Given the description of an element on the screen output the (x, y) to click on. 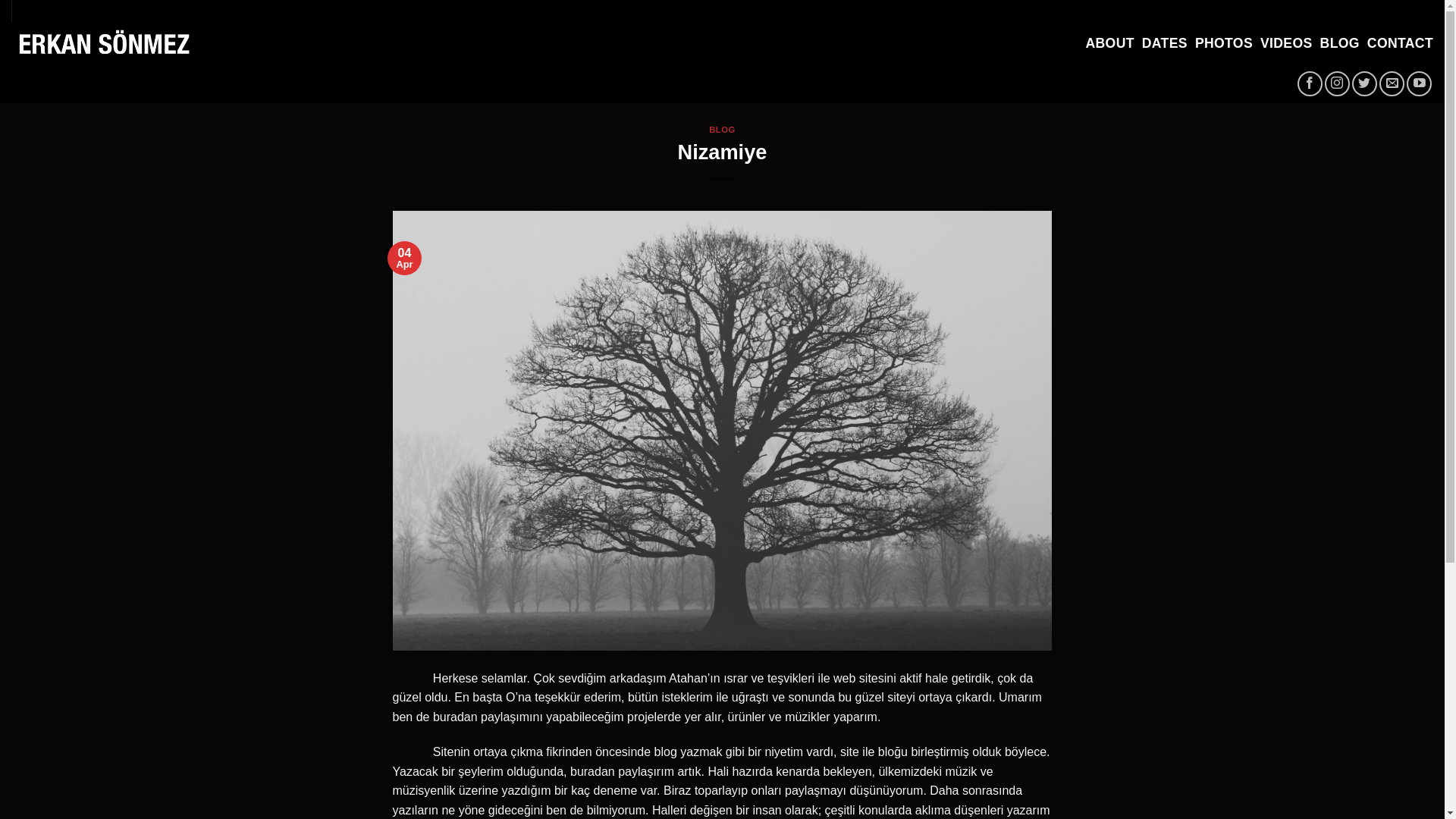
VIDEOS Element type: text (1286, 43)
BLOG Element type: text (722, 129)
CONTACT Element type: text (1400, 43)
ABOUT Element type: text (1109, 43)
PHOTOS Element type: text (1223, 43)
BLOG Element type: text (1339, 43)
DATES Element type: text (1164, 43)
Skip to content Element type: text (0, 0)
